Given the description of an element on the screen output the (x, y) to click on. 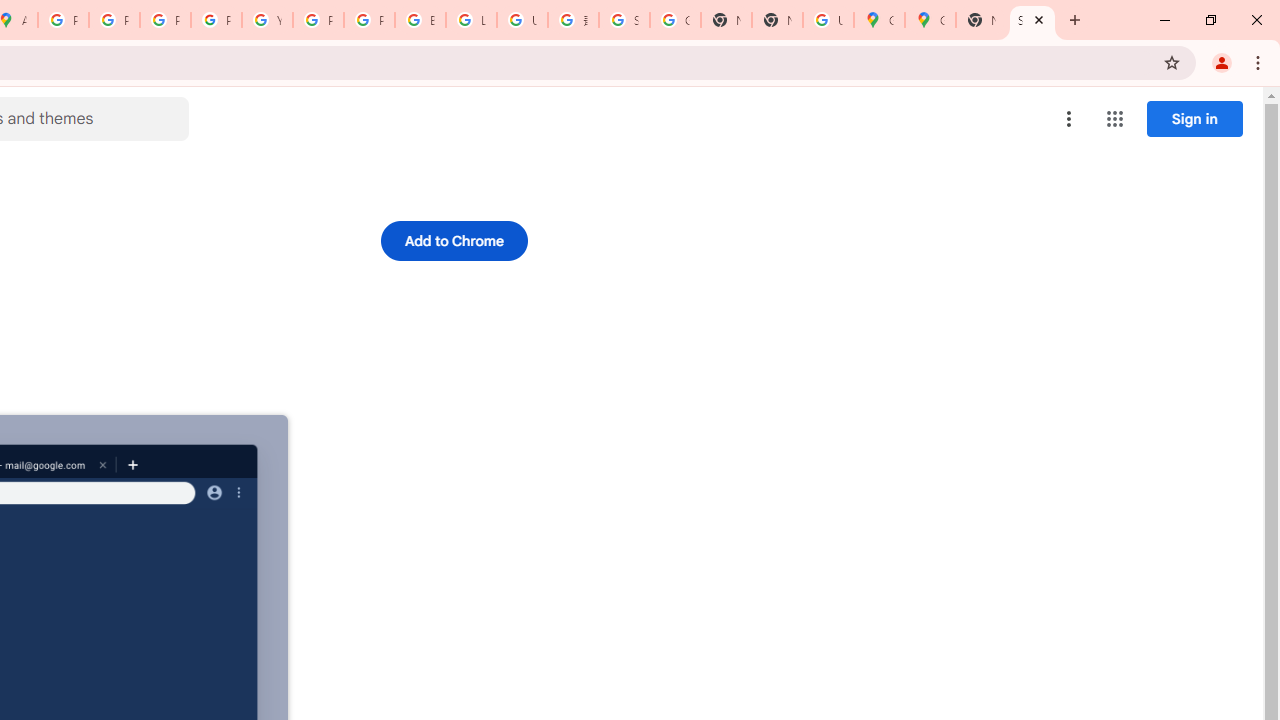
Add to Chrome (453, 240)
Use Google Maps in Space - Google Maps Help (827, 20)
Privacy Help Center - Policies Help (164, 20)
Privacy Help Center - Policies Help (113, 20)
More options menu (1069, 118)
Slate - Chrome Web Store (1032, 20)
